Given the description of an element on the screen output the (x, y) to click on. 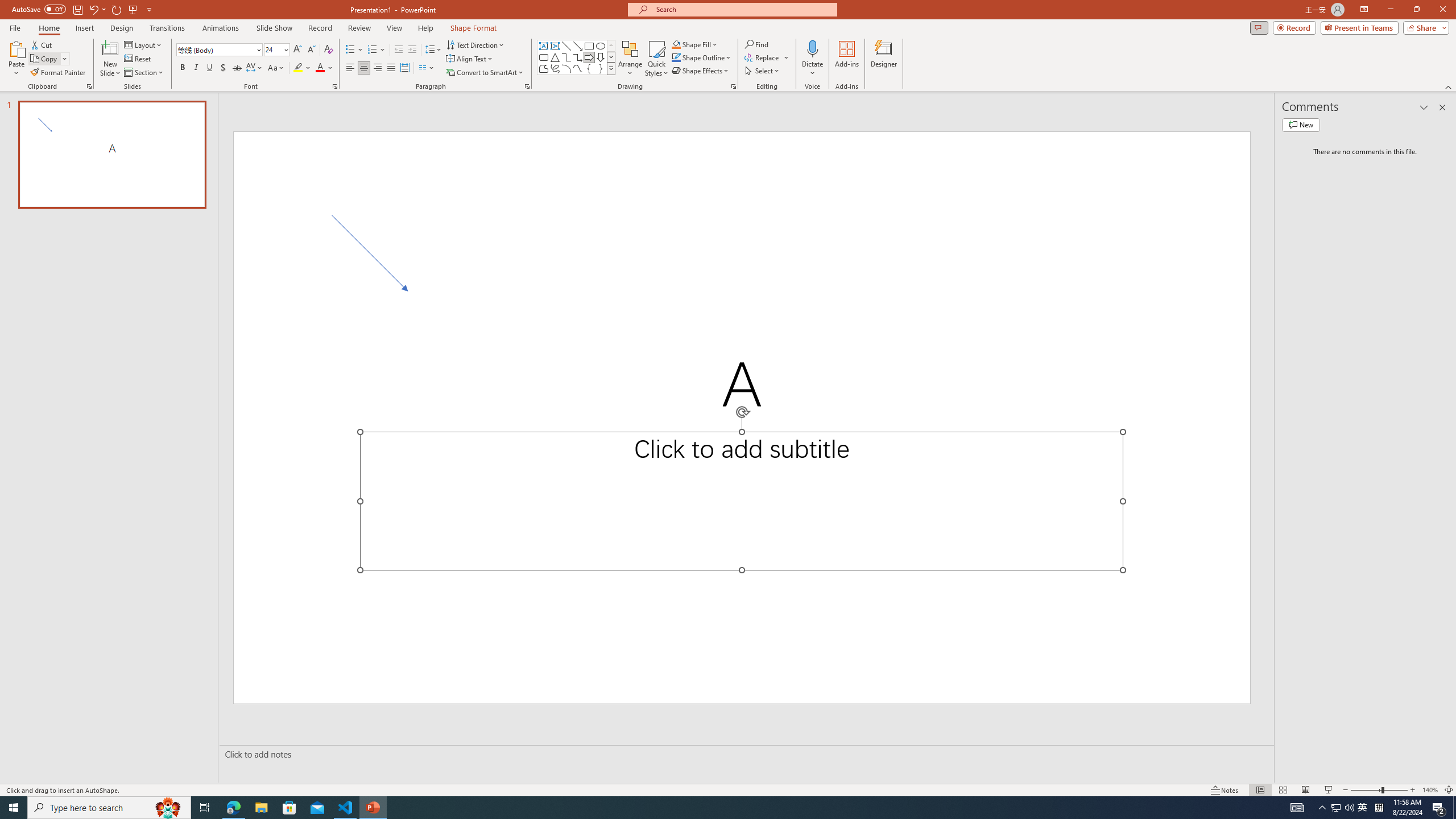
New comment (1300, 124)
